Given the description of an element on the screen output the (x, y) to click on. 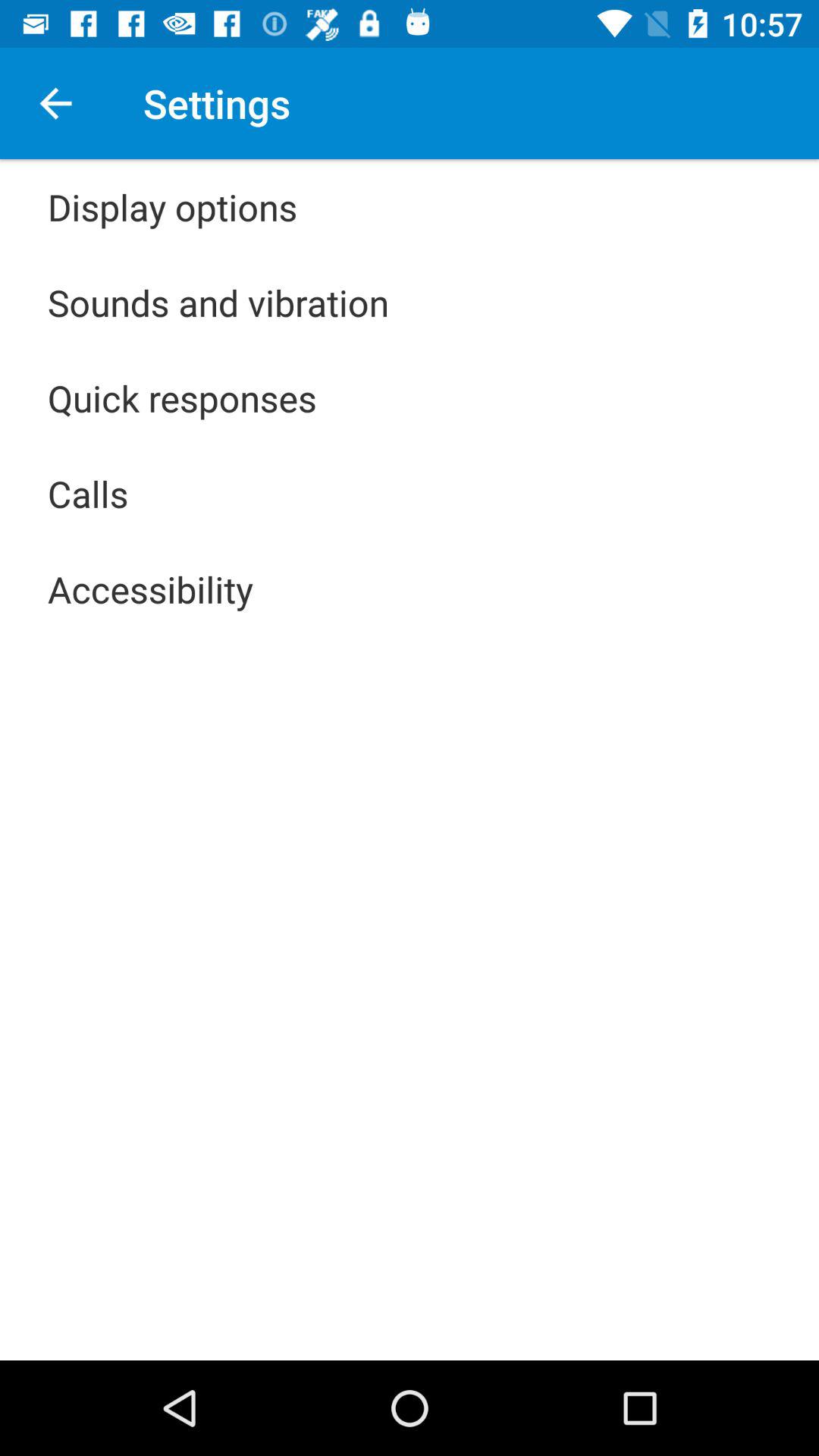
click the display options icon (172, 206)
